Given the description of an element on the screen output the (x, y) to click on. 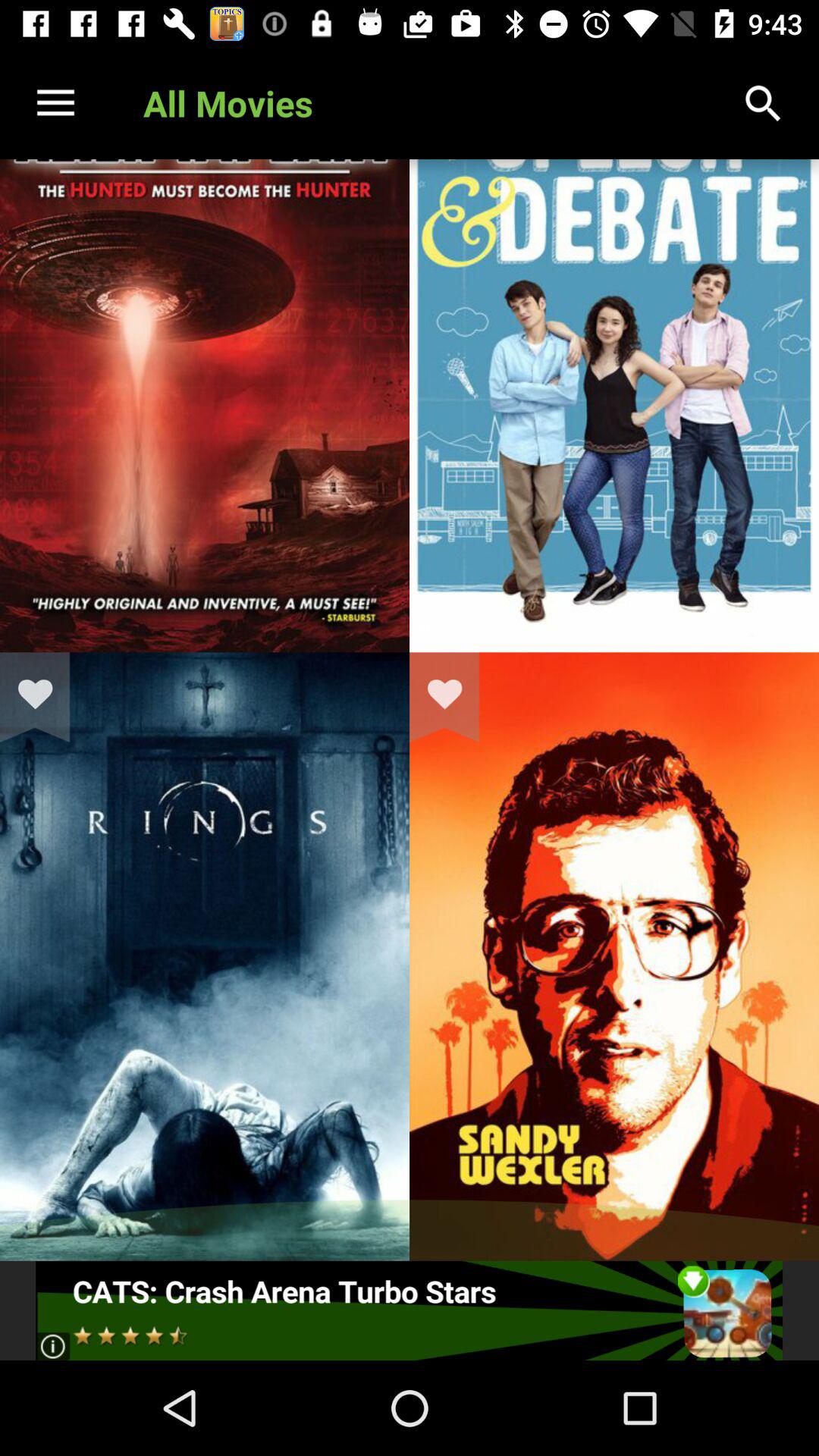
add to favorites (44, 697)
